Given the description of an element on the screen output the (x, y) to click on. 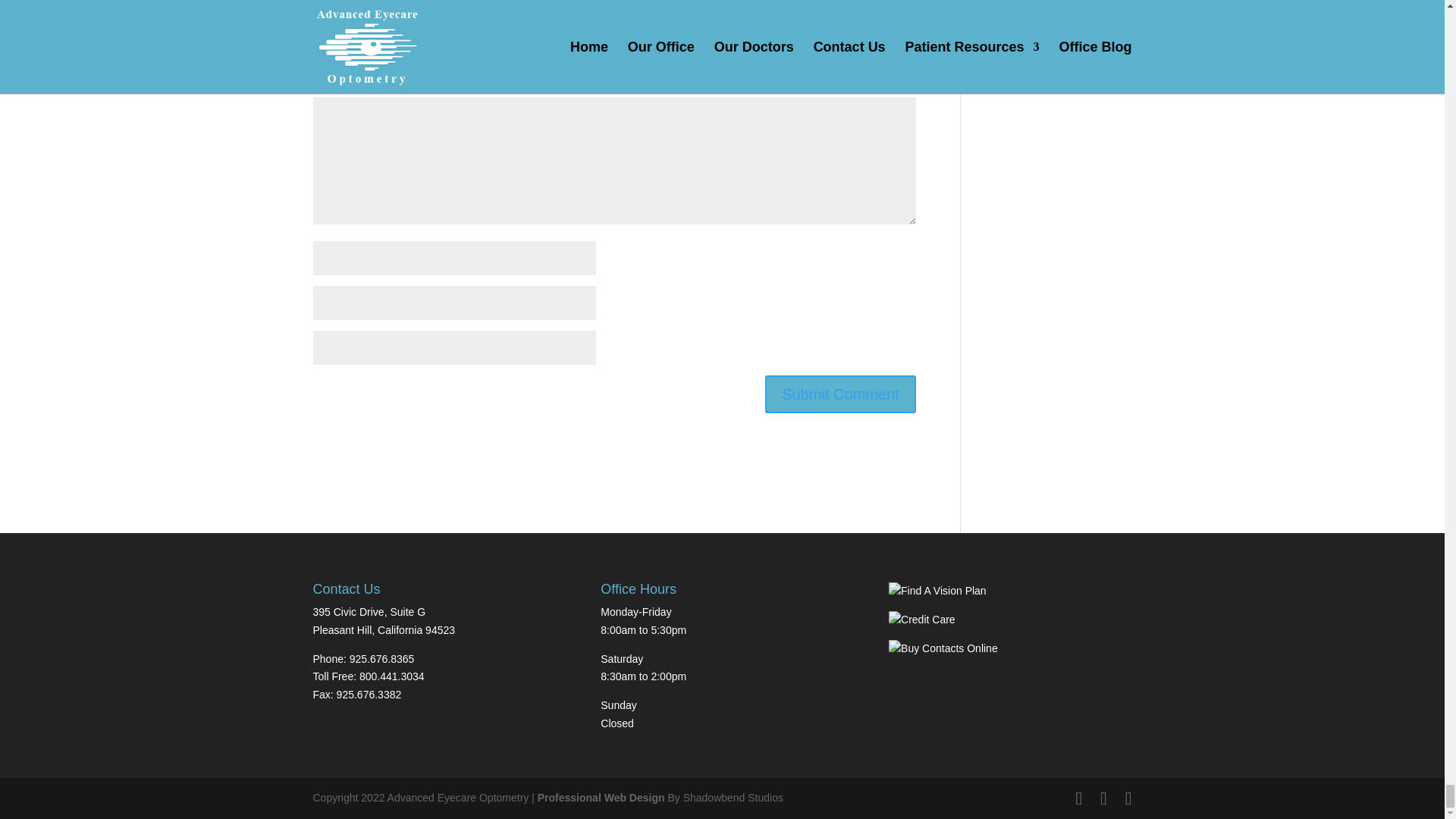
Submit Comment (840, 394)
